Given the description of an element on the screen output the (x, y) to click on. 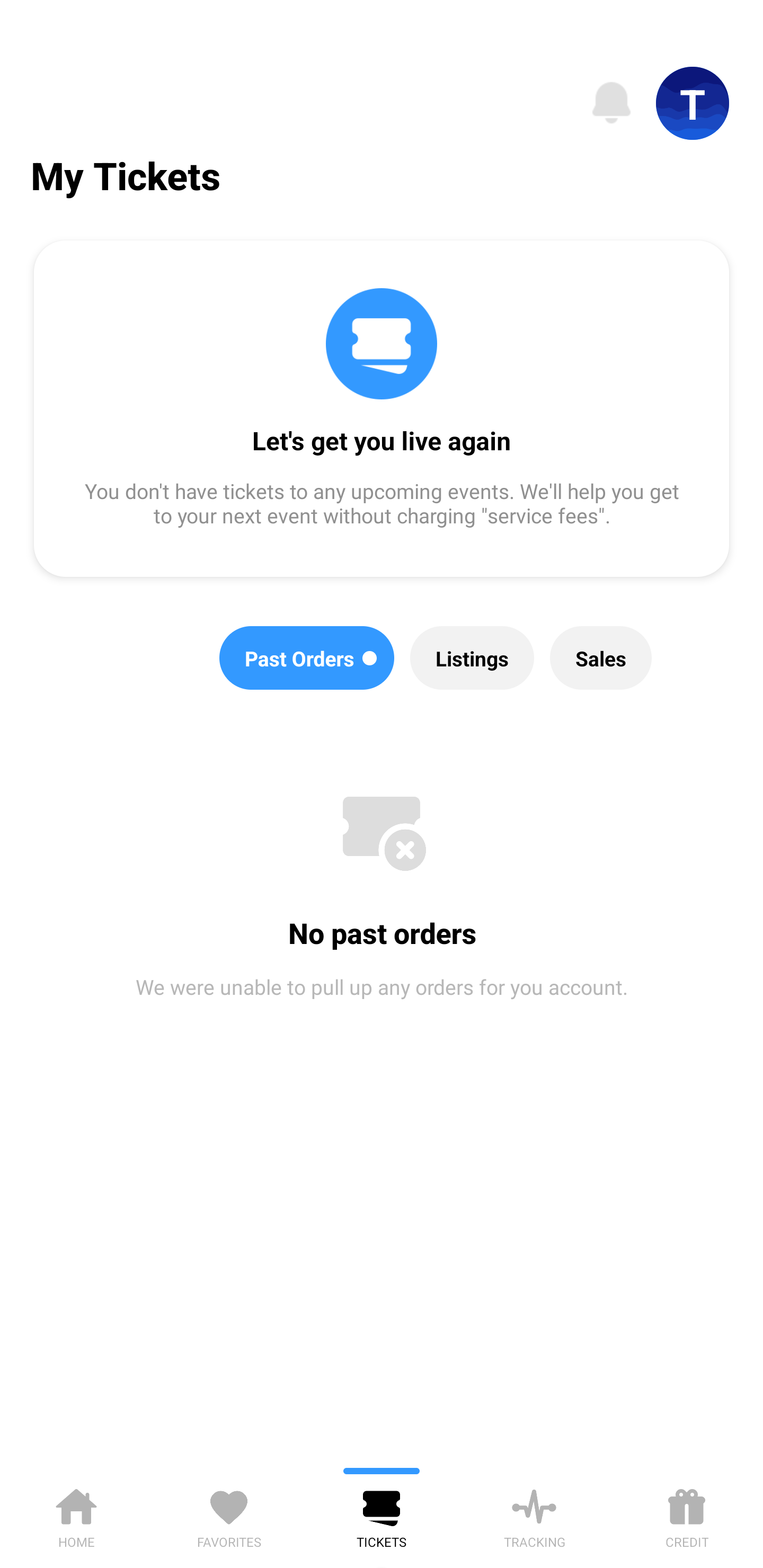
T (692, 103)
Past Orders (306, 657)
Listings (472, 657)
Sales (600, 657)
HOME (76, 1515)
FAVORITES (228, 1515)
TICKETS (381, 1515)
TRACKING (533, 1515)
CREDIT (686, 1515)
